Given the description of an element on the screen output the (x, y) to click on. 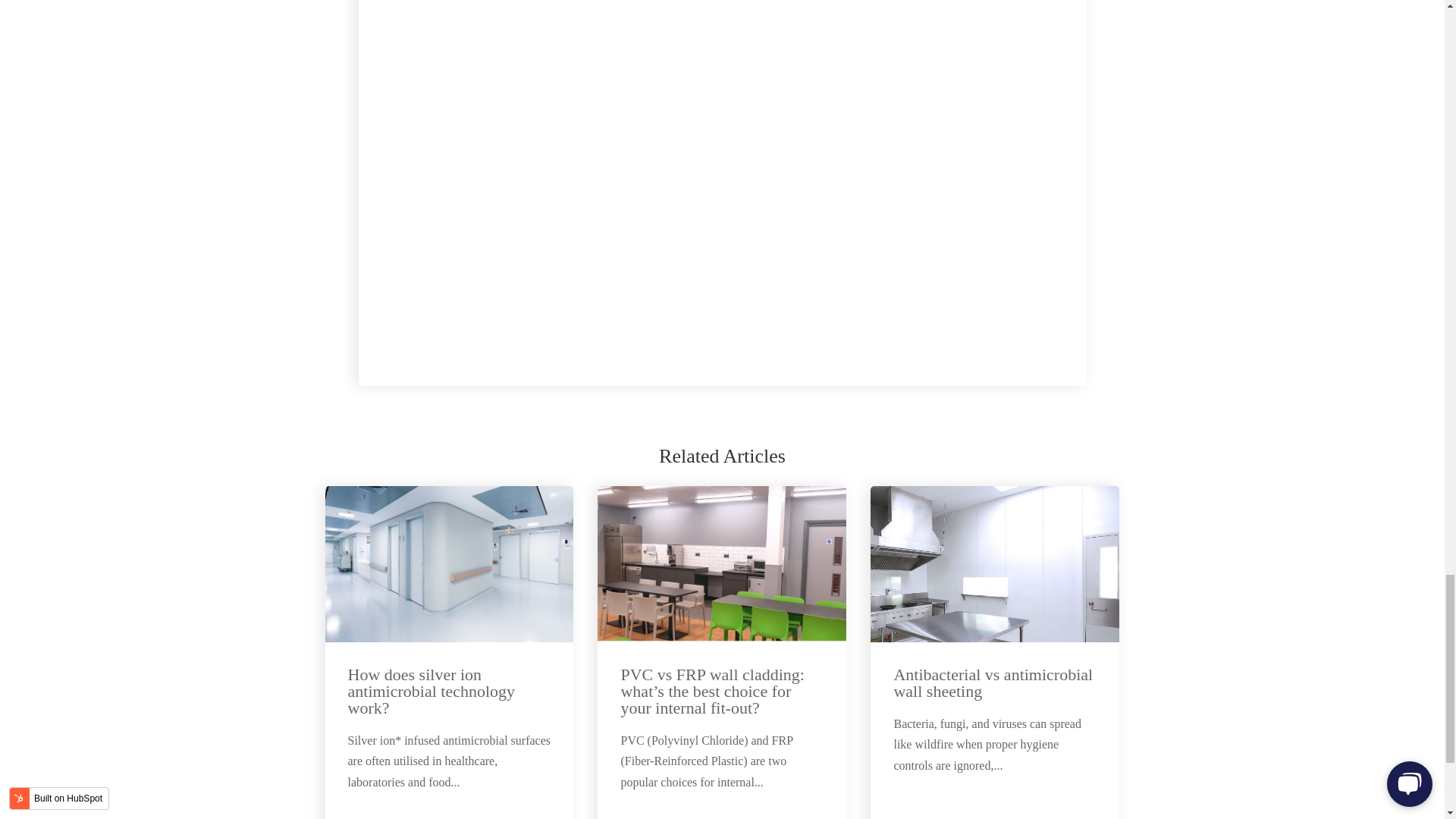
Read More (790, 816)
How does silver ion antimicrobial technology work? (431, 691)
Read More (517, 816)
Read More (1063, 816)
Antibacterial vs antimicrobial wall sheeting (993, 683)
